Given the description of an element on the screen output the (x, y) to click on. 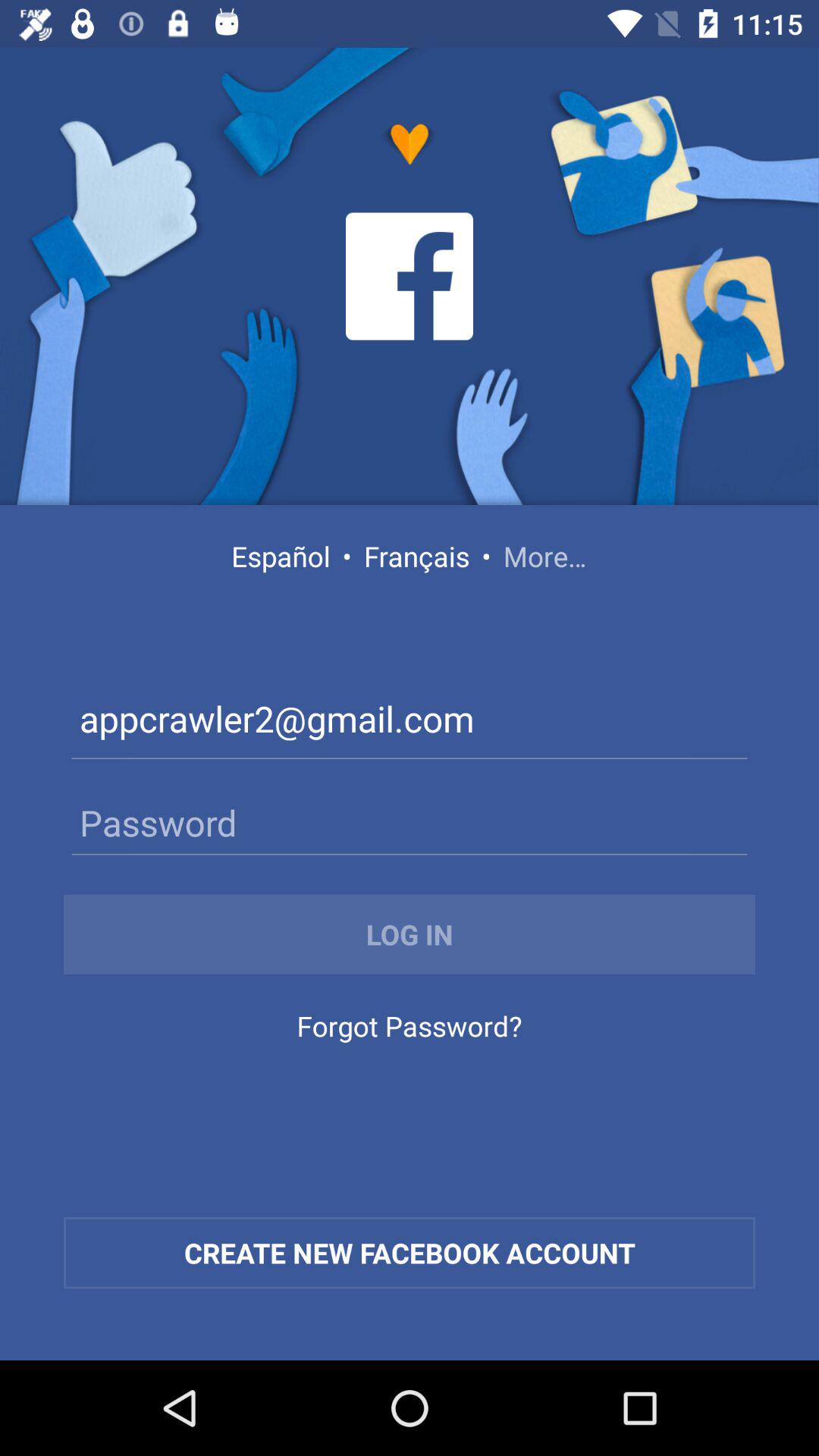
scroll to the appcrawler2@gmail.com (409, 722)
